Given the description of an element on the screen output the (x, y) to click on. 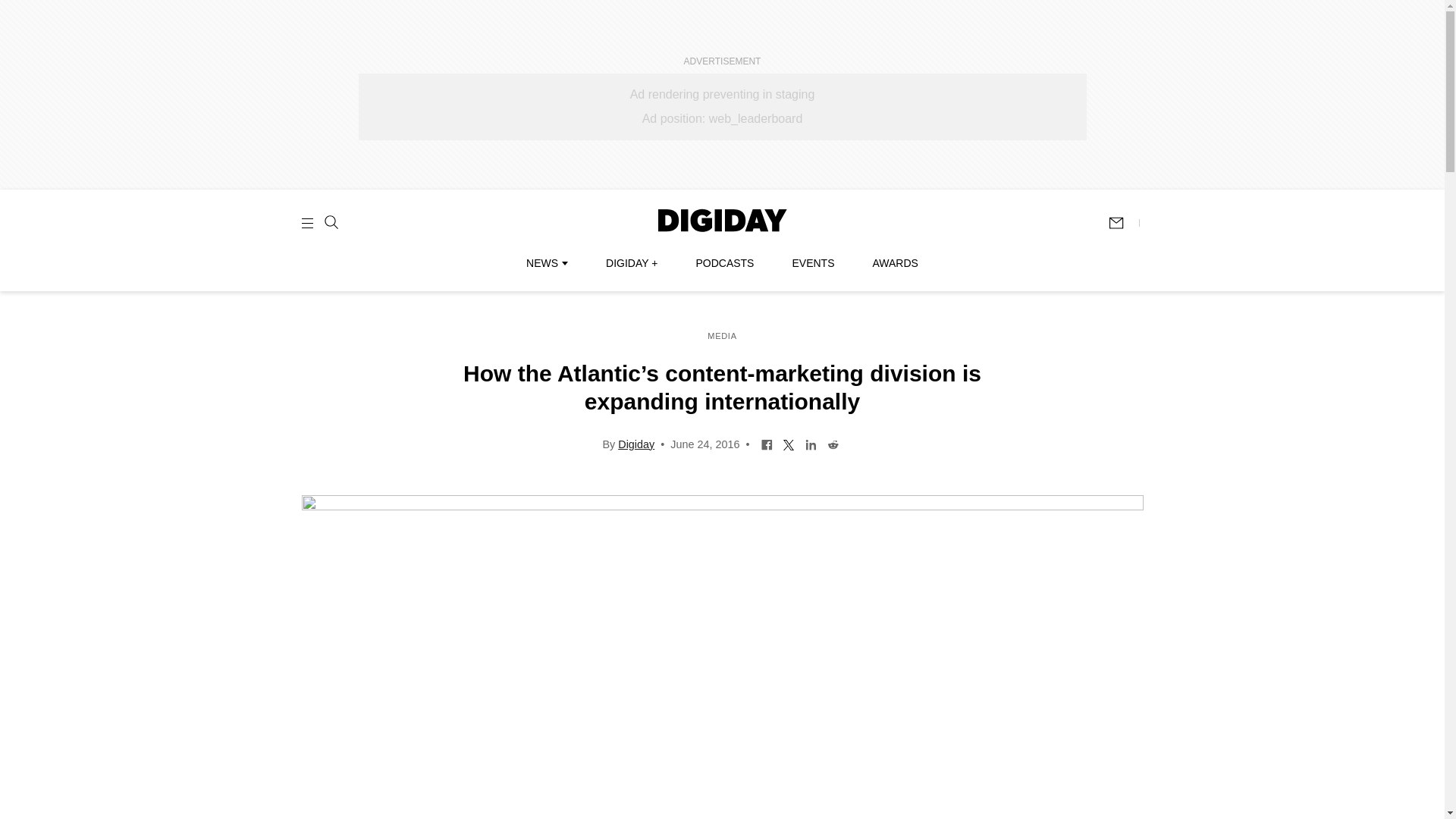
AWARDS (894, 262)
EVENTS (813, 262)
Share on Facebook (766, 443)
Share on LinkedIn (810, 443)
Share on Reddit (833, 443)
NEWS (546, 262)
Subscribe (1123, 223)
PODCASTS (725, 262)
Share on Twitter (788, 443)
